Given the description of an element on the screen output the (x, y) to click on. 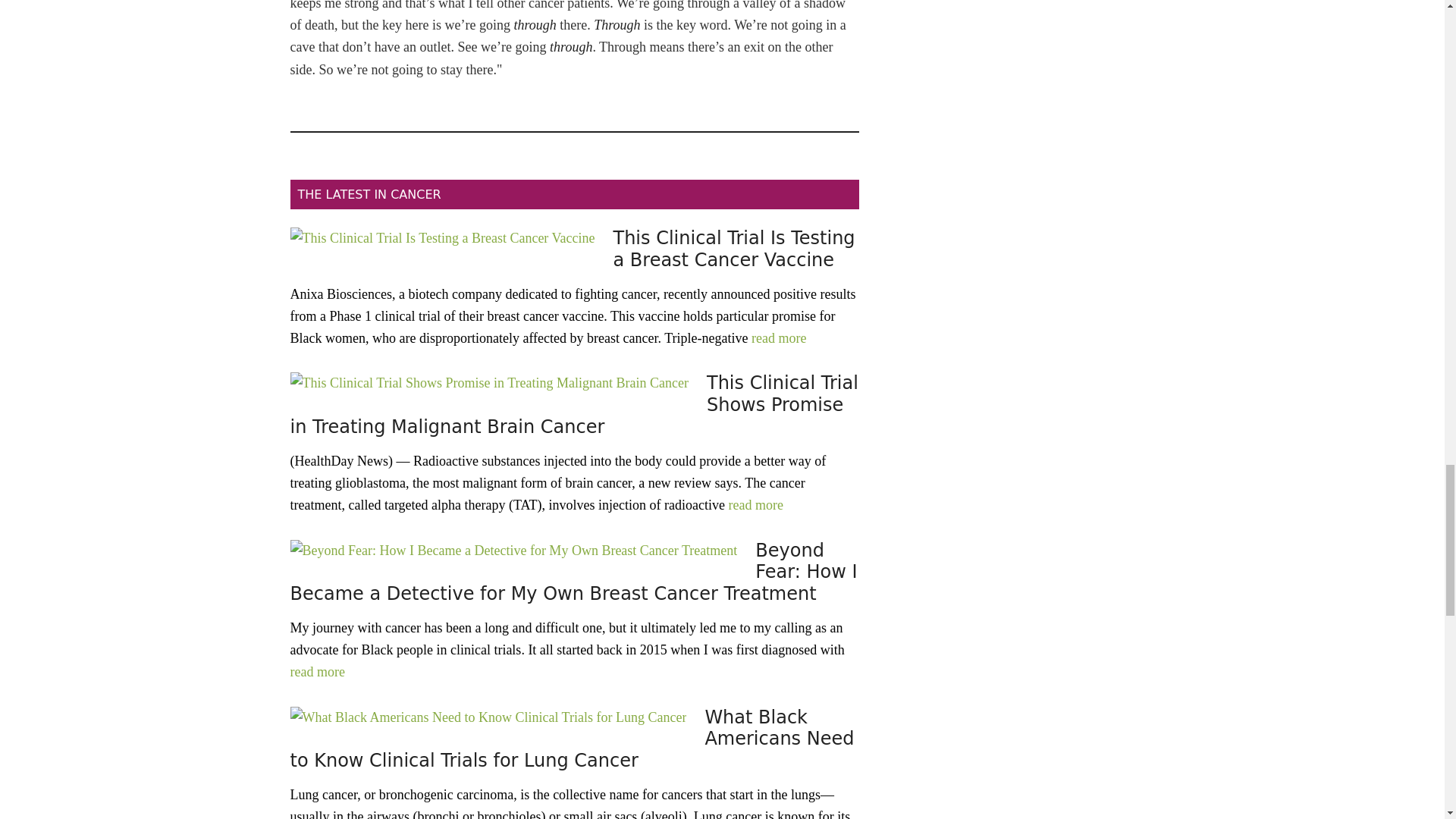
This Clinical Trial Is Testing a Breast Cancer Vaccine (733, 249)
